Given the description of an element on the screen output the (x, y) to click on. 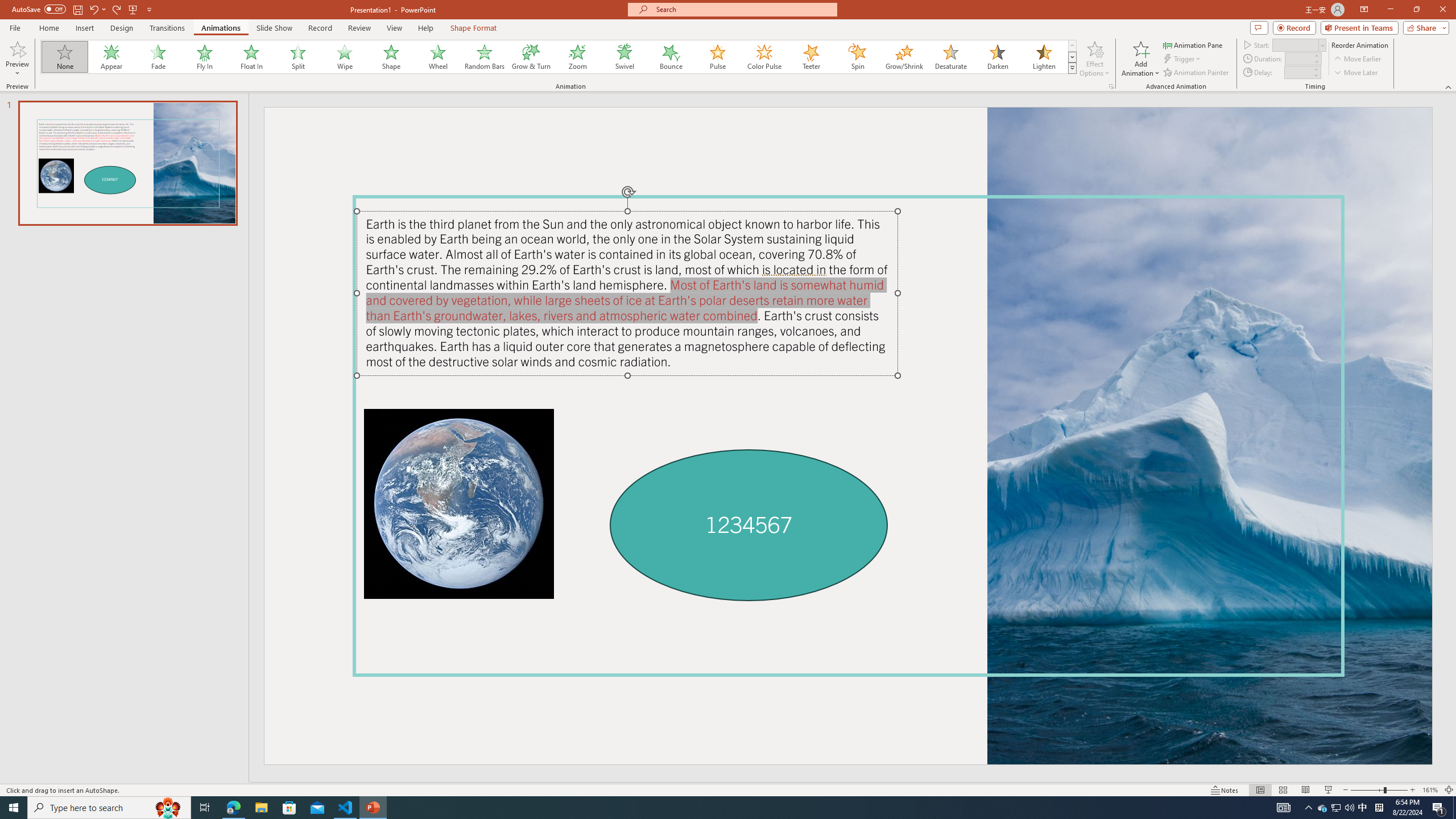
Grow/Shrink (903, 56)
Row up (1071, 45)
Customize Quick Access Toolbar (149, 9)
Animation Painter (1196, 72)
AutoSave (38, 9)
Appear (111, 56)
Swivel (624, 56)
Fly In (205, 56)
Collapse the Ribbon (1448, 86)
Preview (17, 48)
Quick Access Toolbar (82, 9)
View (395, 28)
